Given the description of an element on the screen output the (x, y) to click on. 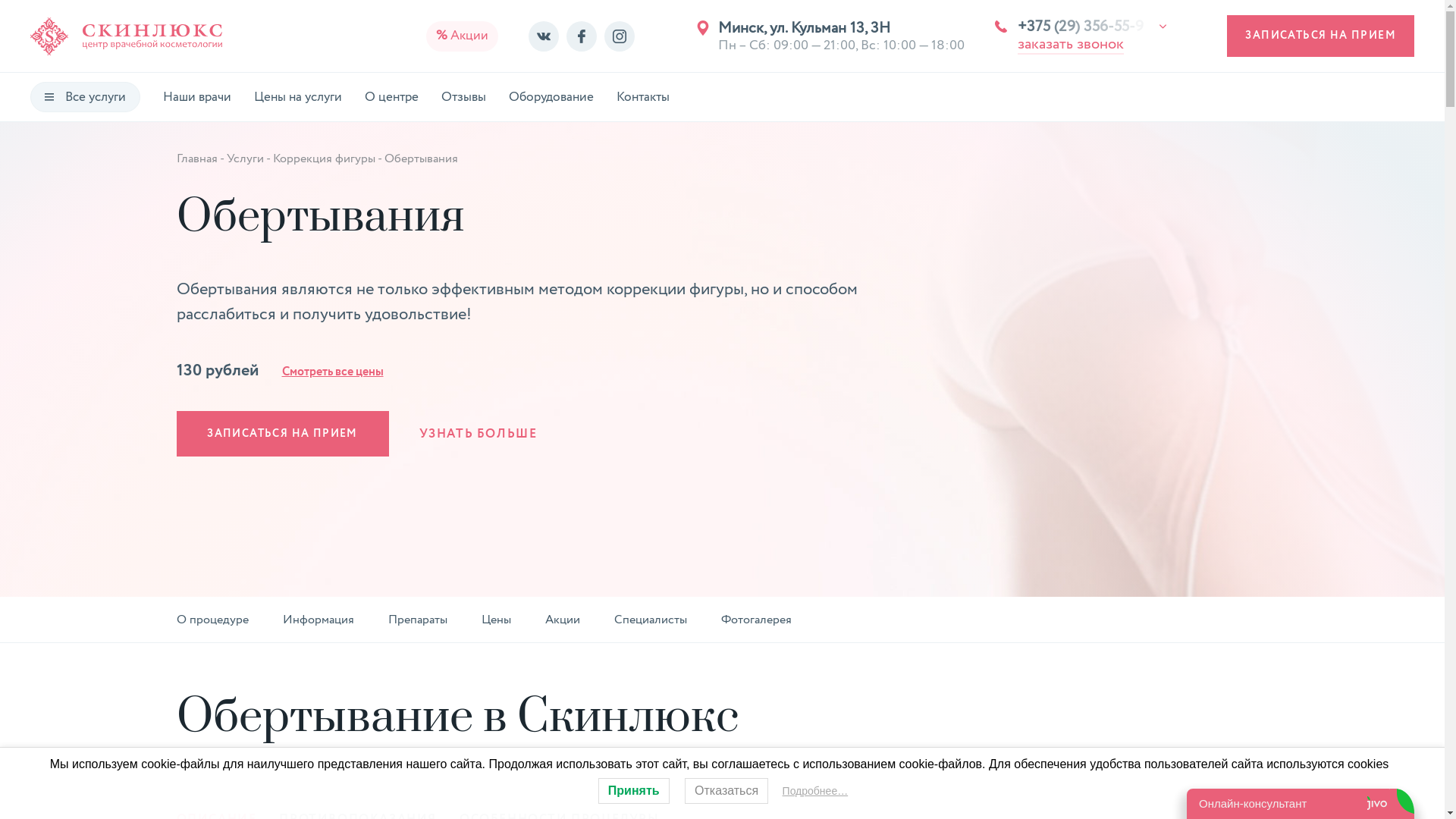
+375 (29) 356-55-9 Element type: text (1091, 26)
